Given the description of an element on the screen output the (x, y) to click on. 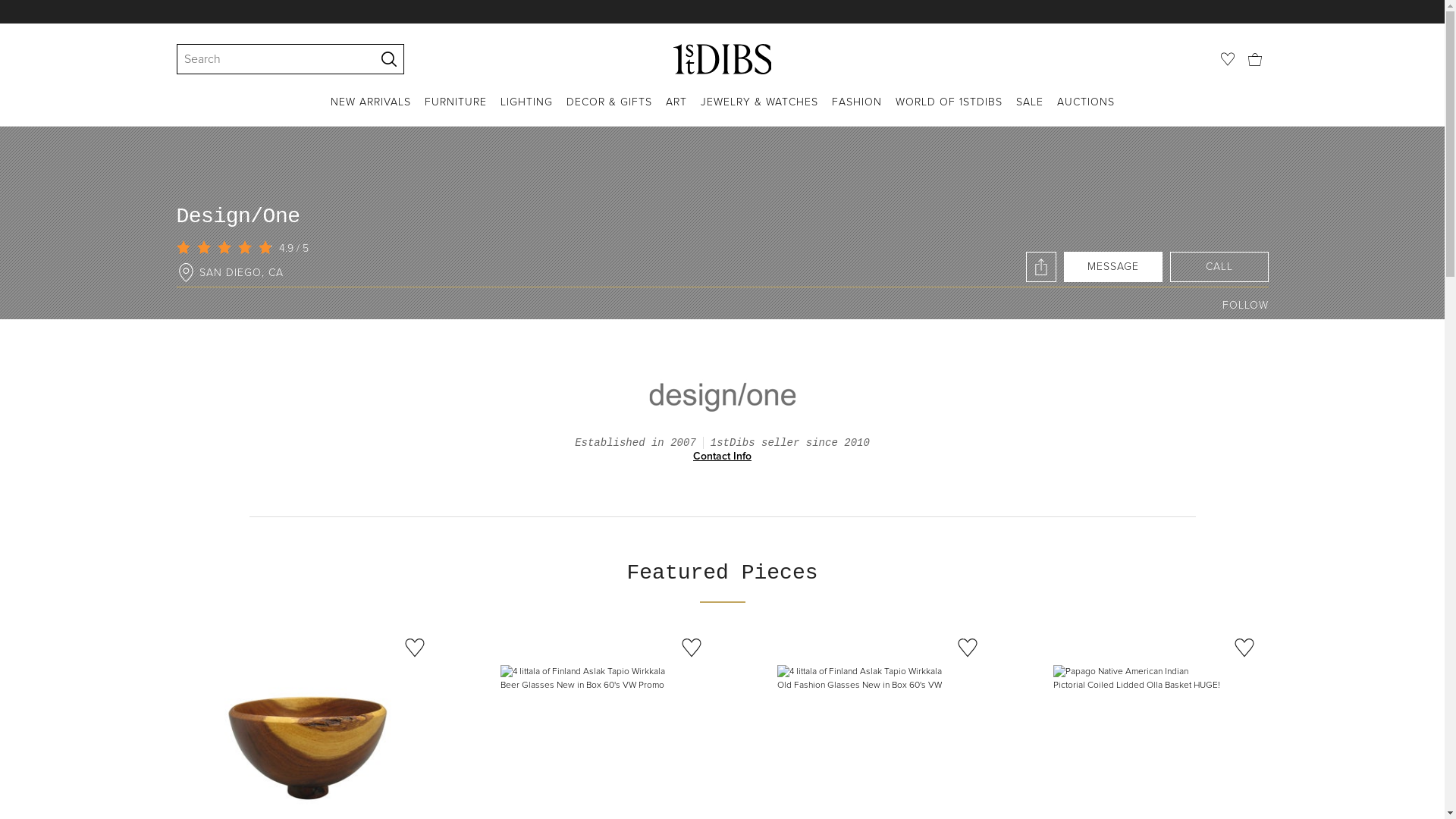
NEW ARRIVALS Element type: text (370, 109)
SKIP TO MAIN CONTENT Element type: text (6, 6)
WORLD OF 1STDIBS Element type: text (947, 109)
JEWELRY & WATCHES Element type: text (759, 109)
Contact Info Element type: text (721, 456)
LIGHTING Element type: text (526, 109)
SALE Element type: text (1029, 109)
CALL Element type: text (1218, 266)
Search Element type: hover (268, 58)
ART Element type: text (676, 109)
FURNITURE Element type: text (455, 109)
FASHION Element type: text (856, 109)
AUCTIONS Element type: text (1085, 109)
DECOR & GIFTS Element type: text (608, 109)
